Given the description of an element on the screen output the (x, y) to click on. 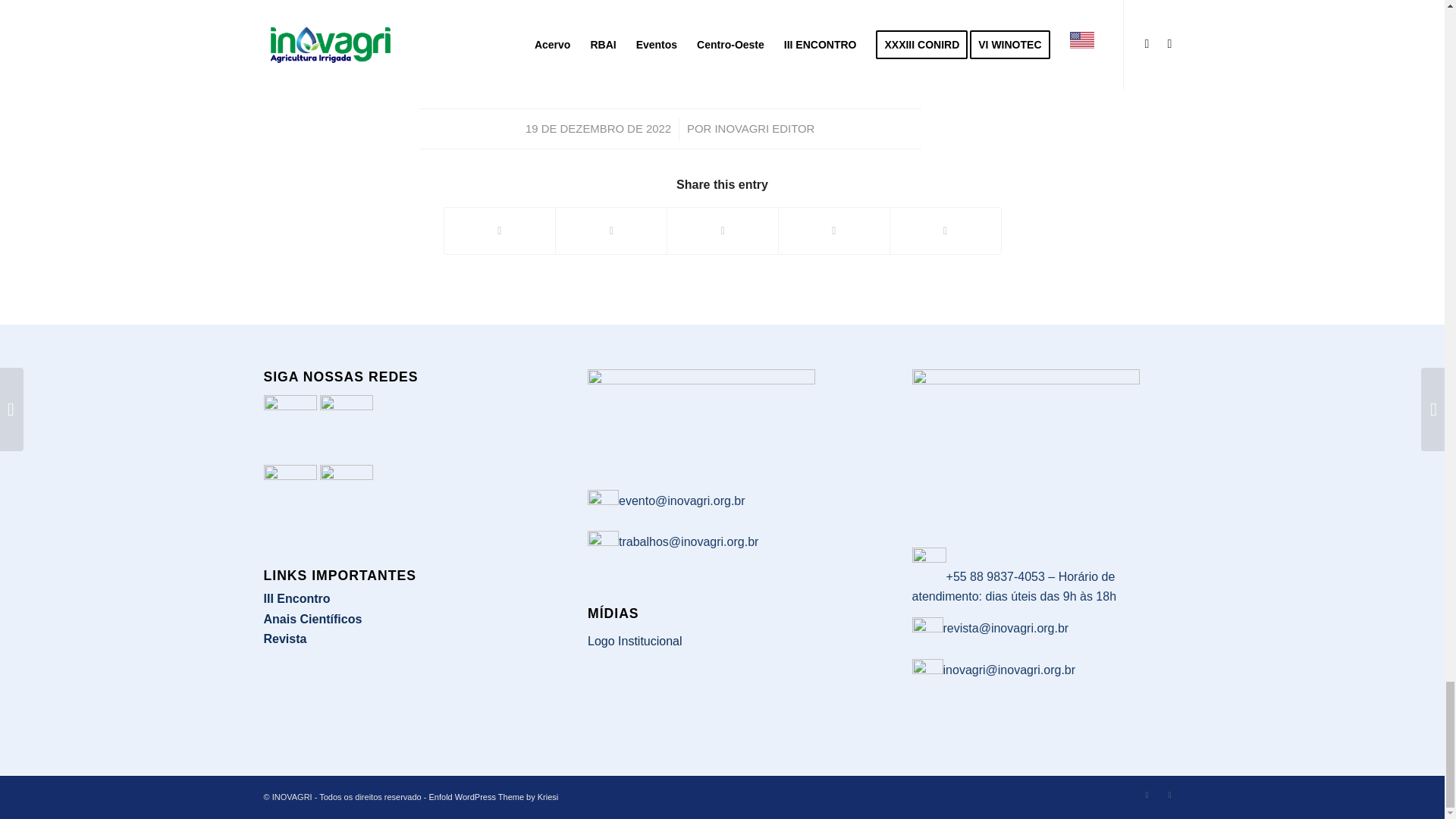
Instagram (1146, 793)
Facebook (1169, 793)
Posts de Inovagri Editor (763, 128)
INOVAGRI EDITOR (763, 128)
